Given the description of an element on the screen output the (x, y) to click on. 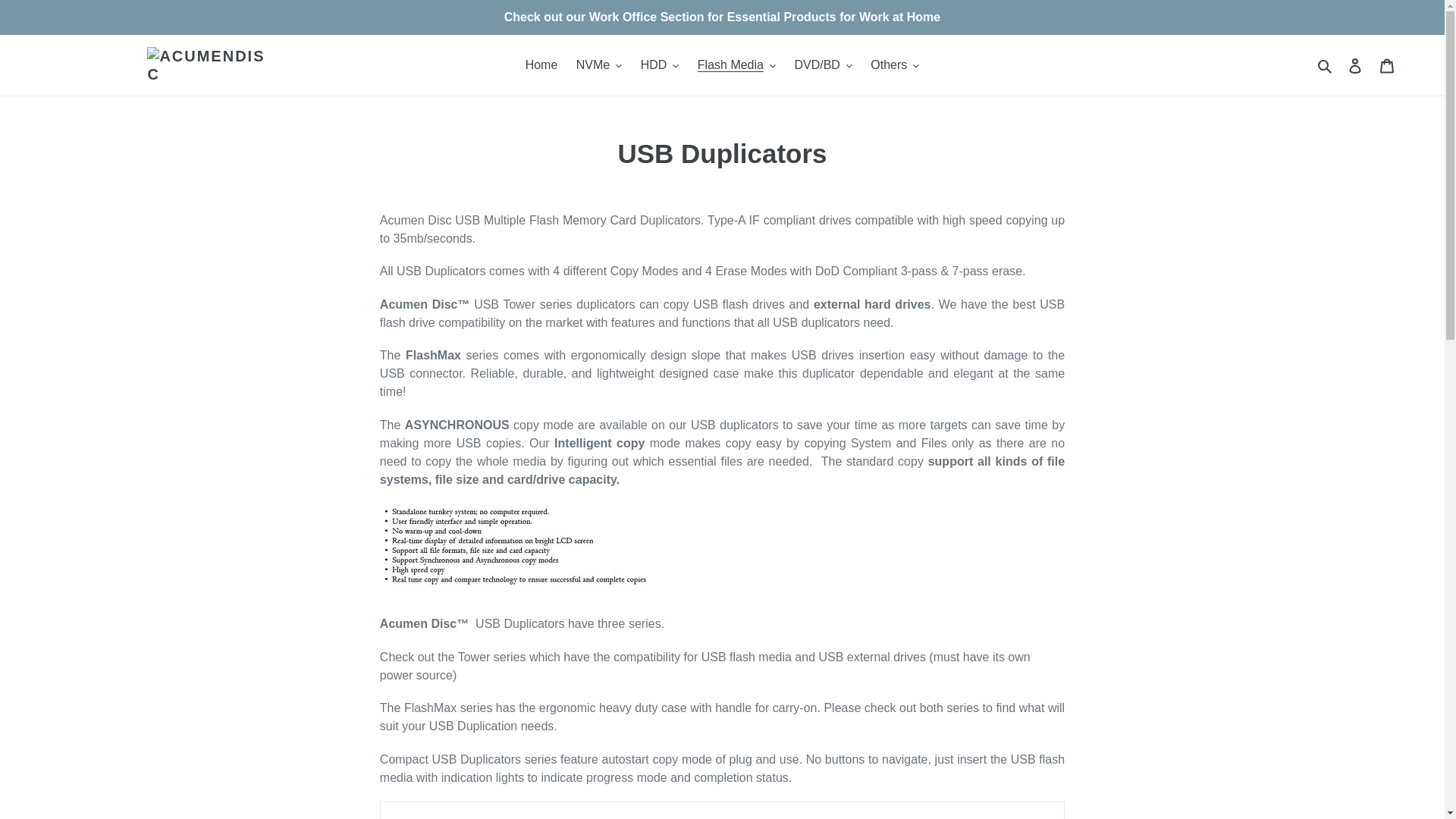
Home (542, 65)
Flash Media (736, 65)
HDD (660, 65)
NVMe (598, 65)
